Given the description of an element on the screen output the (x, y) to click on. 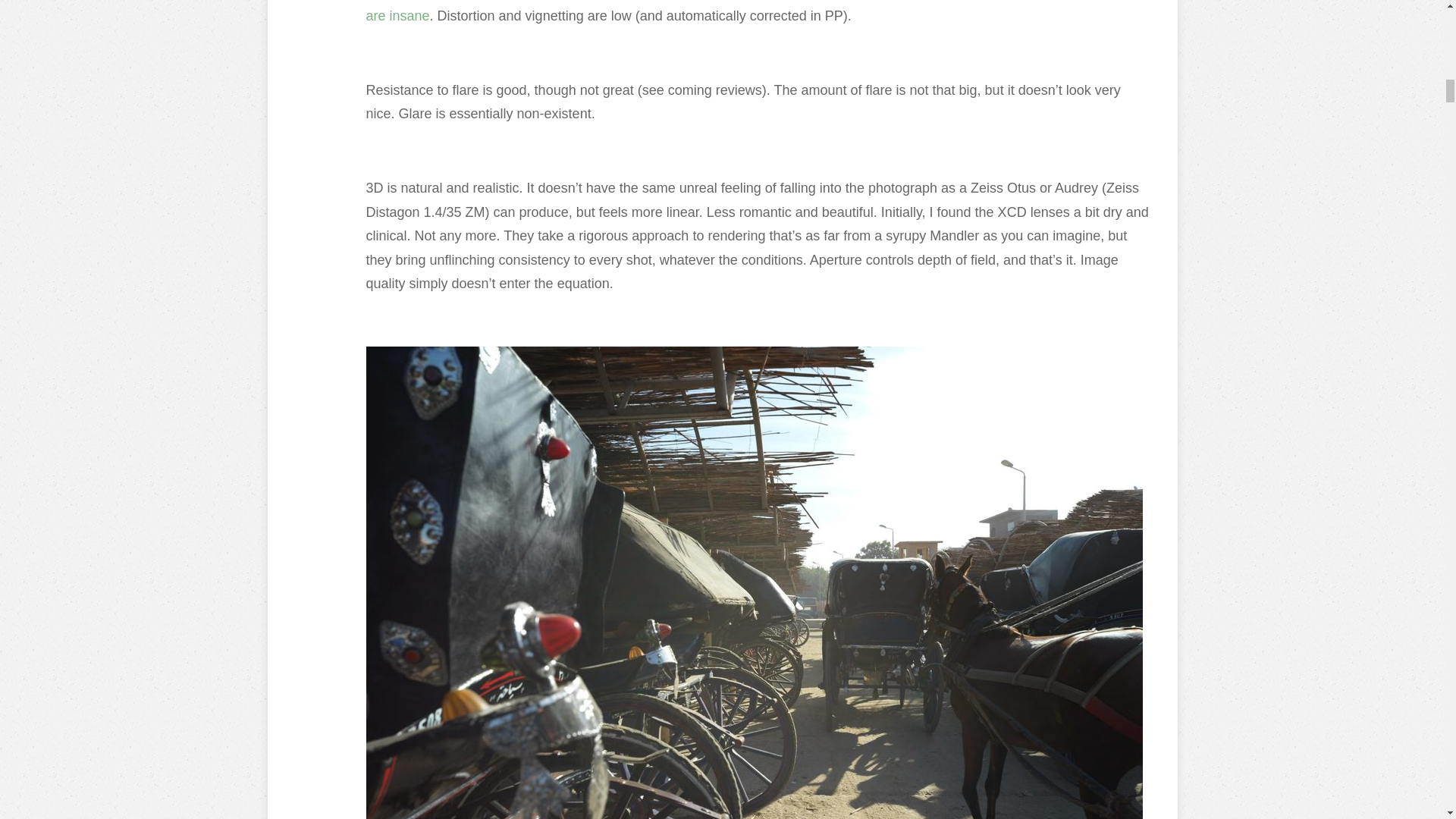
MTFs are insane (753, 11)
